Given the description of an element on the screen output the (x, y) to click on. 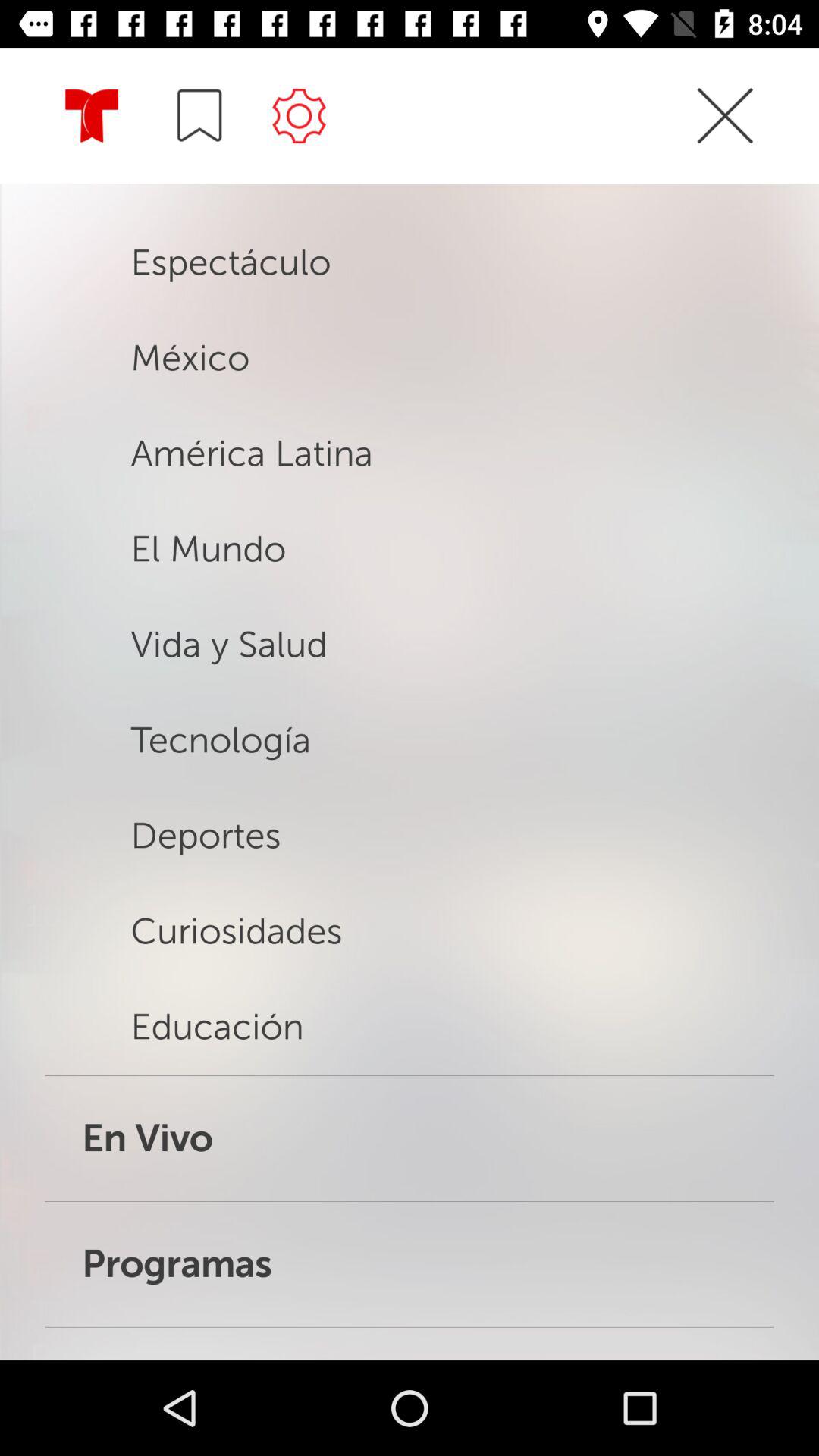
select x button which is on the top right corner of the page (724, 115)
click on the option educacion (409, 1027)
go to the text below vida y  salud (310, 765)
